Given the description of an element on the screen output the (x, y) to click on. 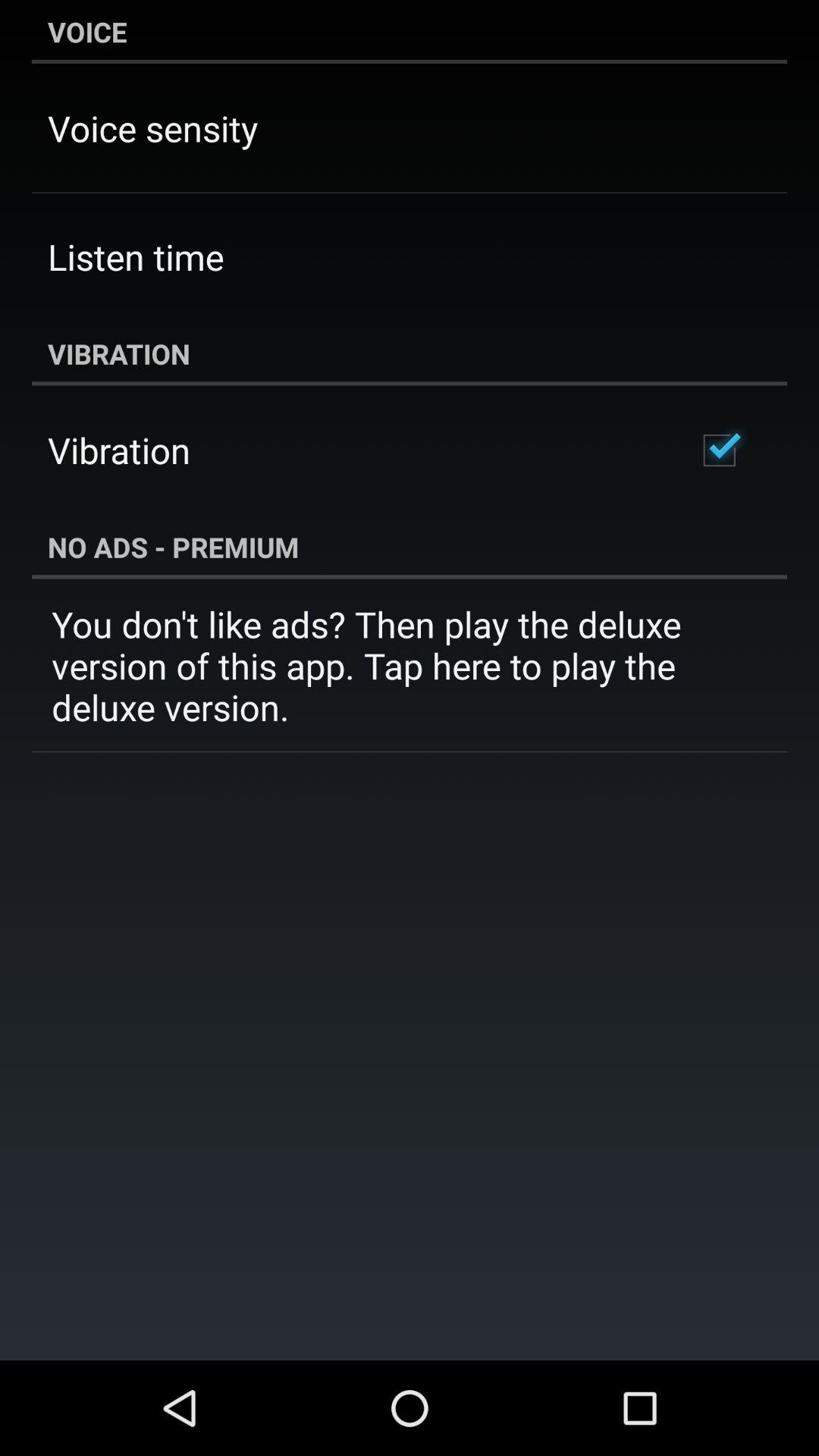
choose no ads - premium (409, 546)
